Given the description of an element on the screen output the (x, y) to click on. 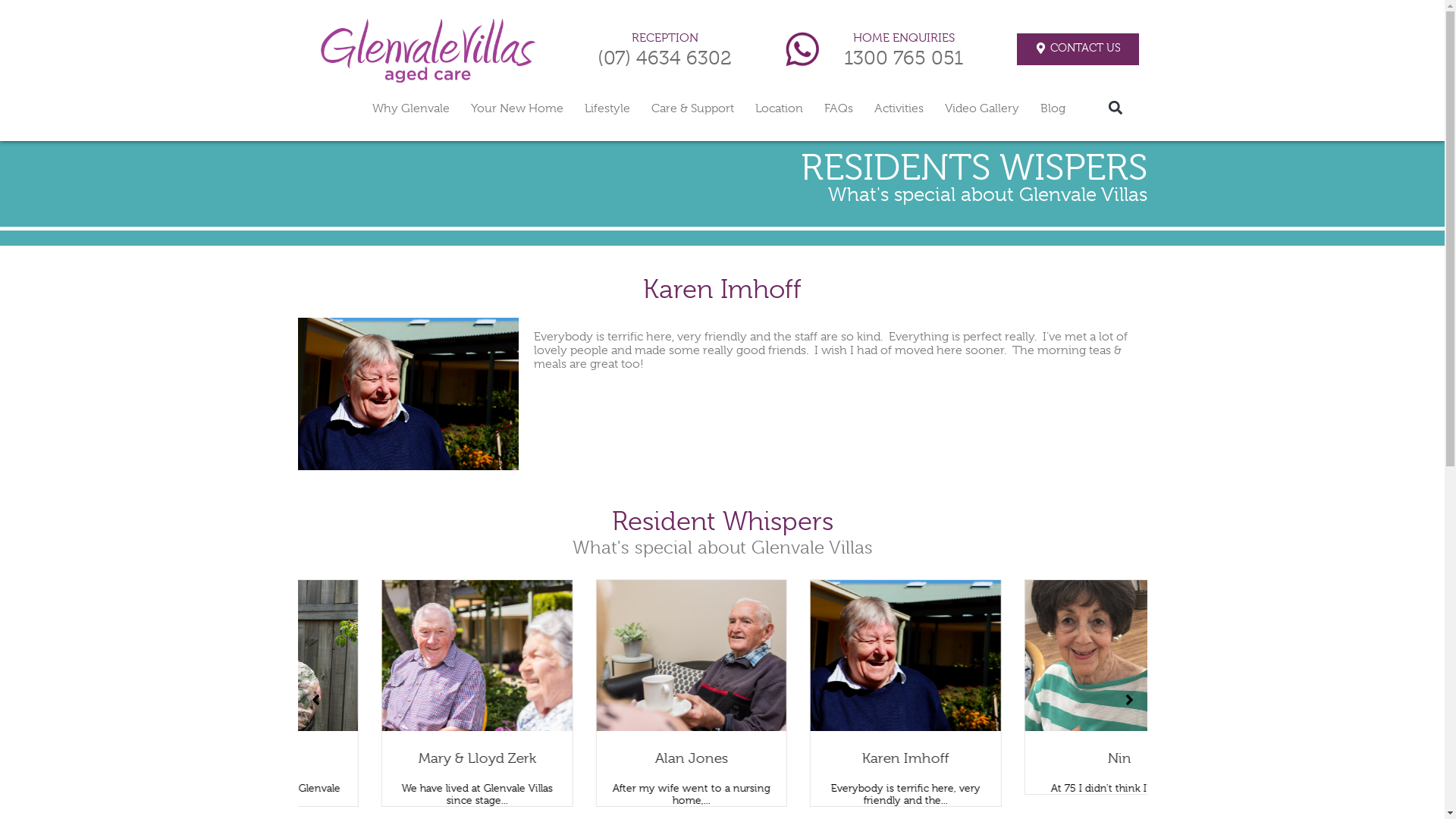
Blog Element type: text (1052, 108)
CONTACT US Element type: text (1077, 49)
(07) 4634 6302 Element type: text (664, 57)
Care & Support Element type: text (691, 108)
Activities Element type: text (897, 108)
FAQs Element type: text (837, 108)
Why Glenvale Element type: text (409, 108)
1300 765 051 Element type: text (903, 57)
Trish Element type: text (400, 757)
Alan Jones Element type: text (829, 757)
Karen Imhoff Element type: text (1043, 757)
Location Element type: text (778, 108)
Your New Home Element type: text (516, 108)
Video Gallery Element type: text (981, 108)
Mary & Lloyd Zerk Element type: text (615, 757)
Lifestyle Element type: text (606, 108)
